Given the description of an element on the screen output the (x, y) to click on. 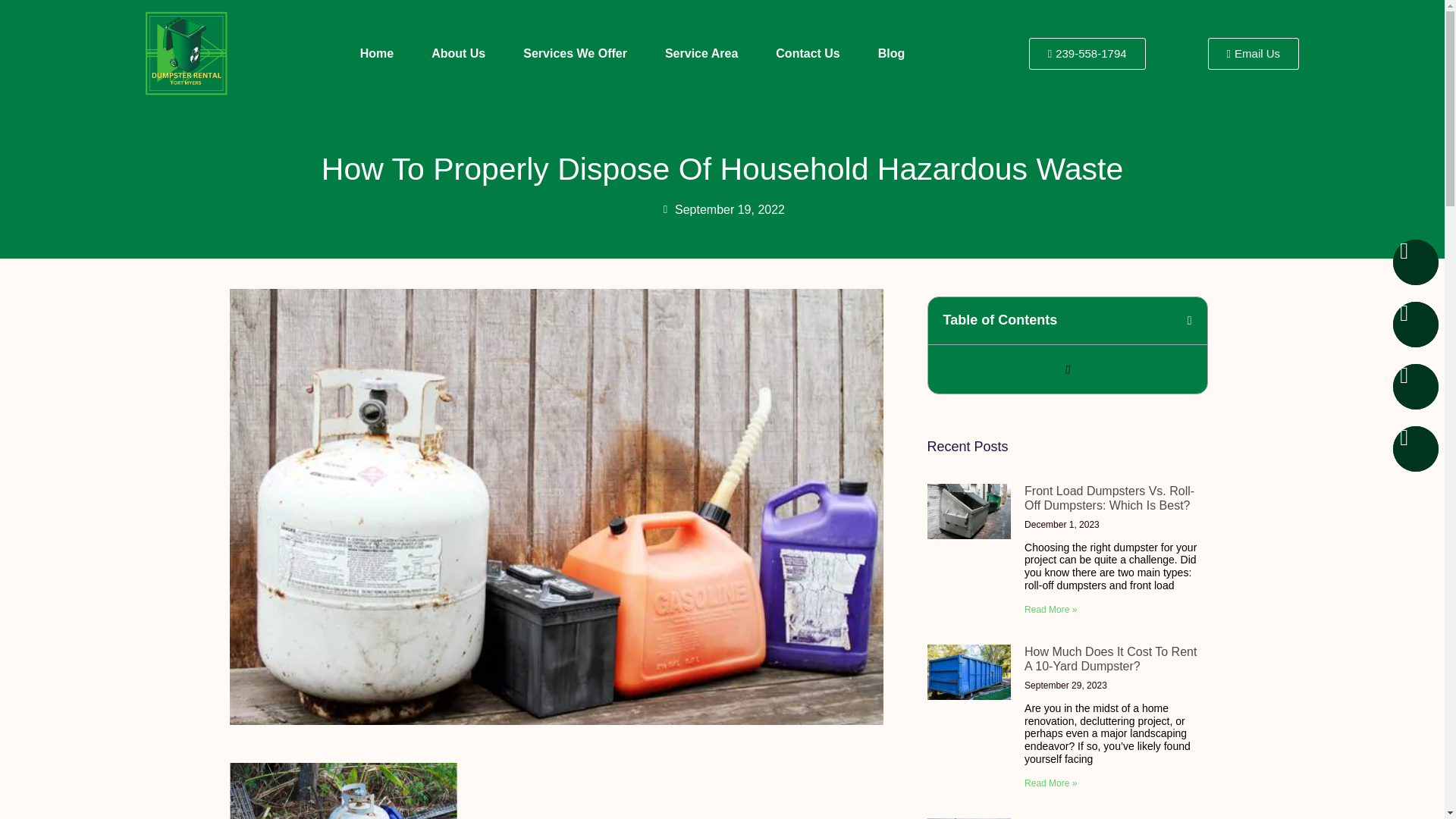
Services We Offer (575, 53)
Home (377, 53)
Service Area (700, 53)
About Us (458, 53)
Blog (891, 53)
Contact Us (807, 53)
